Given the description of an element on the screen output the (x, y) to click on. 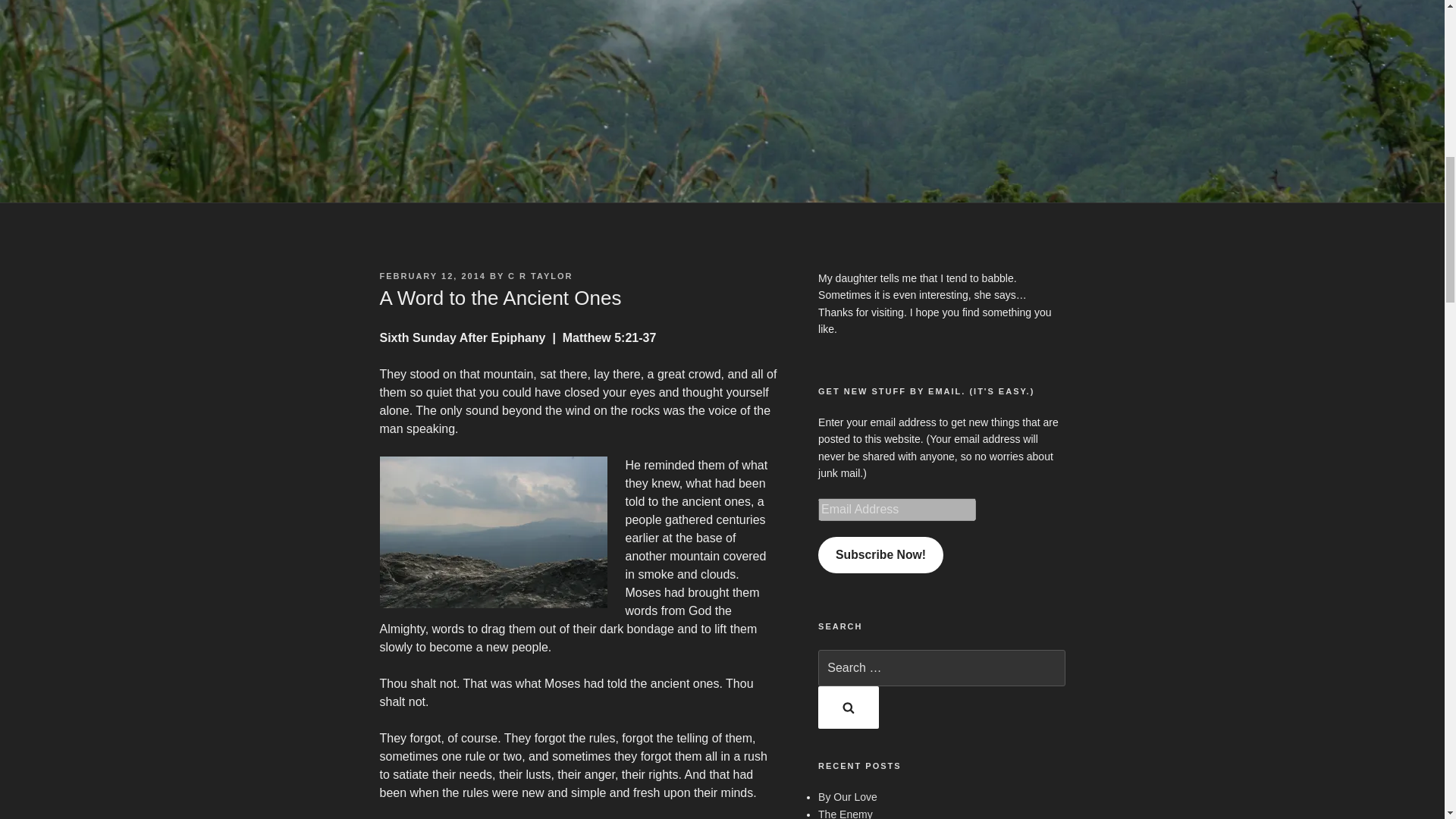
Subscribe Now! (880, 555)
The Enemy (845, 813)
By Our Love (847, 797)
FEBRUARY 12, 2014 (431, 275)
Search (848, 707)
C R TAYLOR (540, 275)
